Given the description of an element on the screen output the (x, y) to click on. 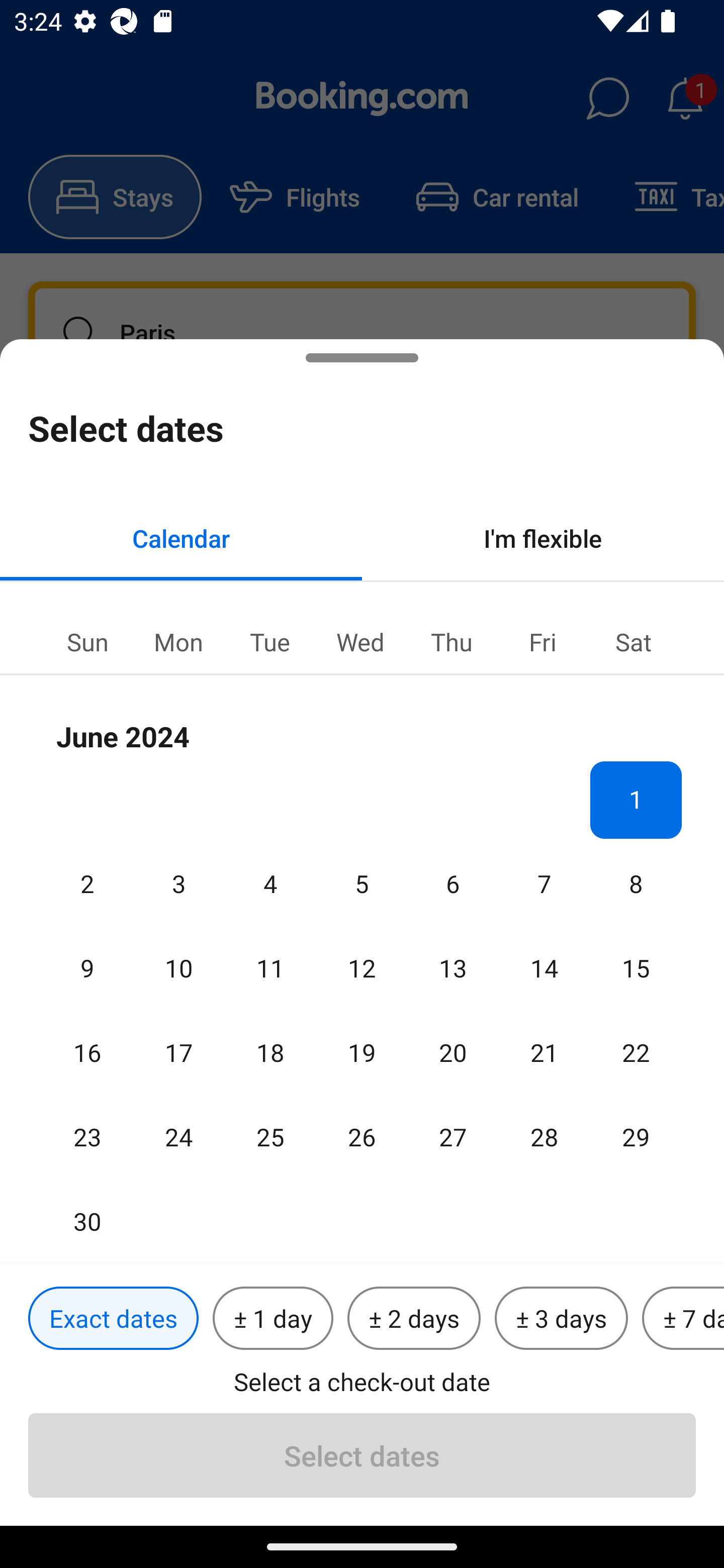
I'm flexible (543, 537)
Exact dates (113, 1318)
± 1 day (272, 1318)
± 2 days (413, 1318)
± 3 days (560, 1318)
± 7 days (683, 1318)
Select dates (361, 1454)
